Given the description of an element on the screen output the (x, y) to click on. 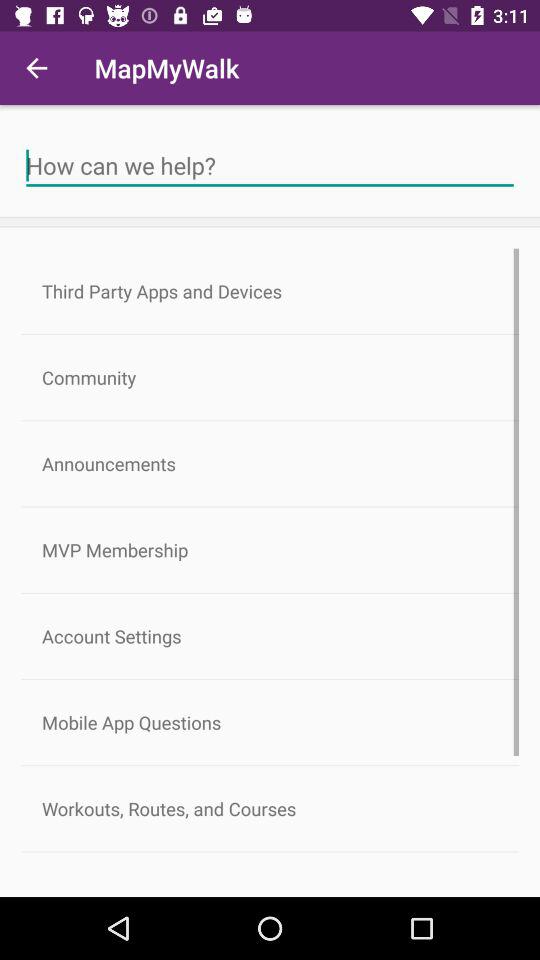
tap the third party apps icon (269, 291)
